Given the description of an element on the screen output the (x, y) to click on. 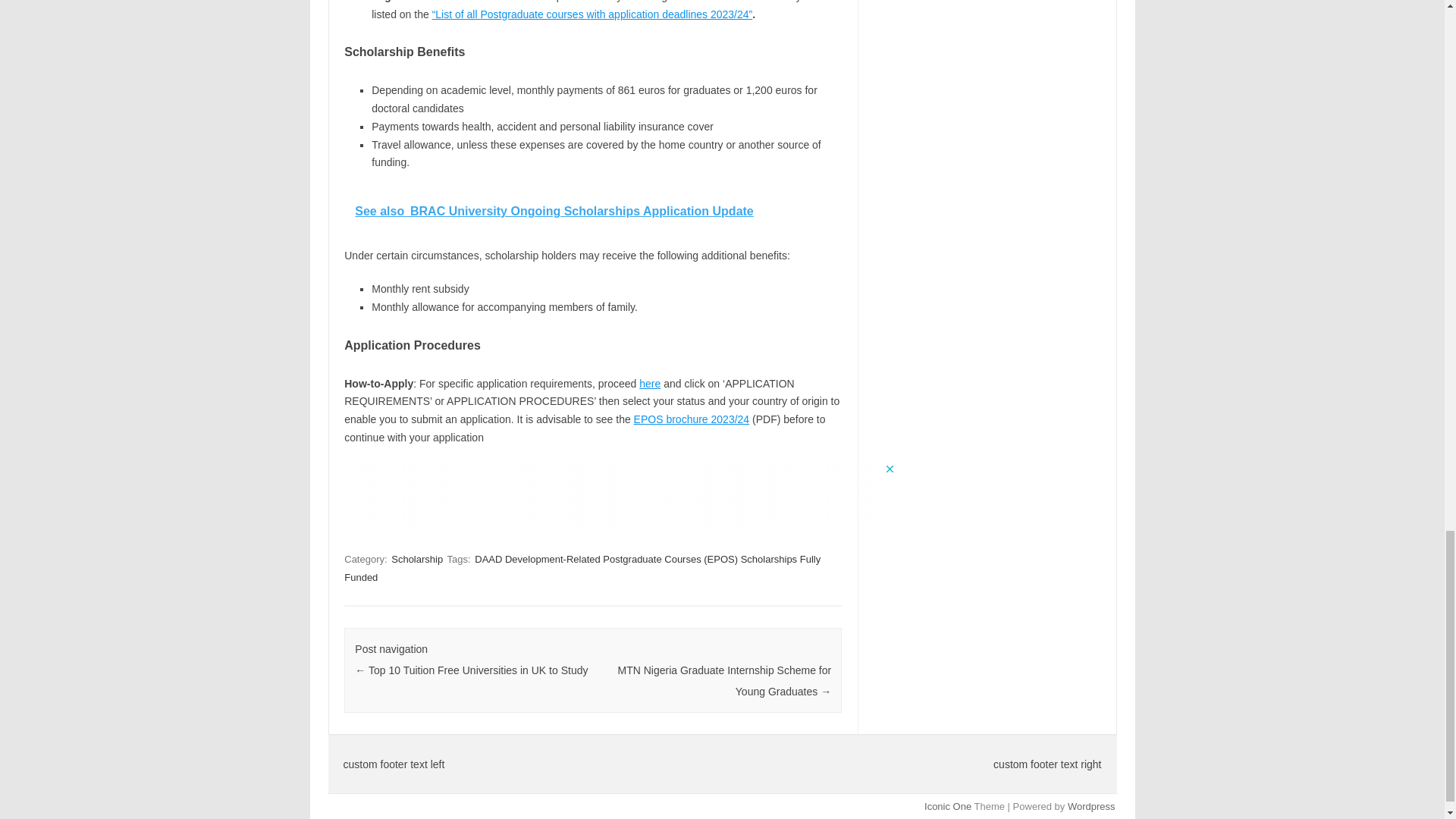
here (650, 383)
3rd party ad content (619, 496)
Scholarship (417, 559)
